Given the description of an element on the screen output the (x, y) to click on. 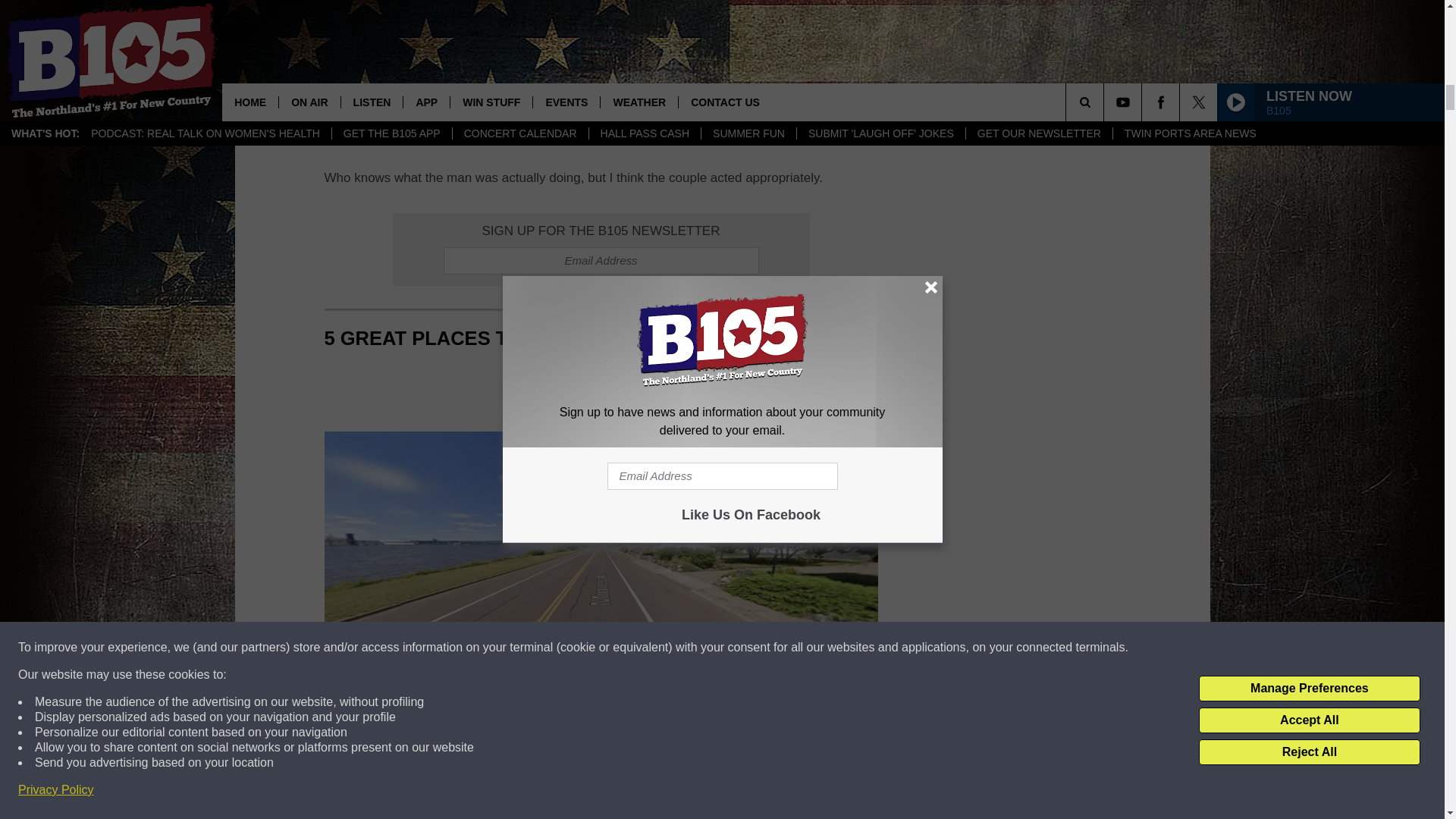
Email Address (600, 260)
